Given the description of an element on the screen output the (x, y) to click on. 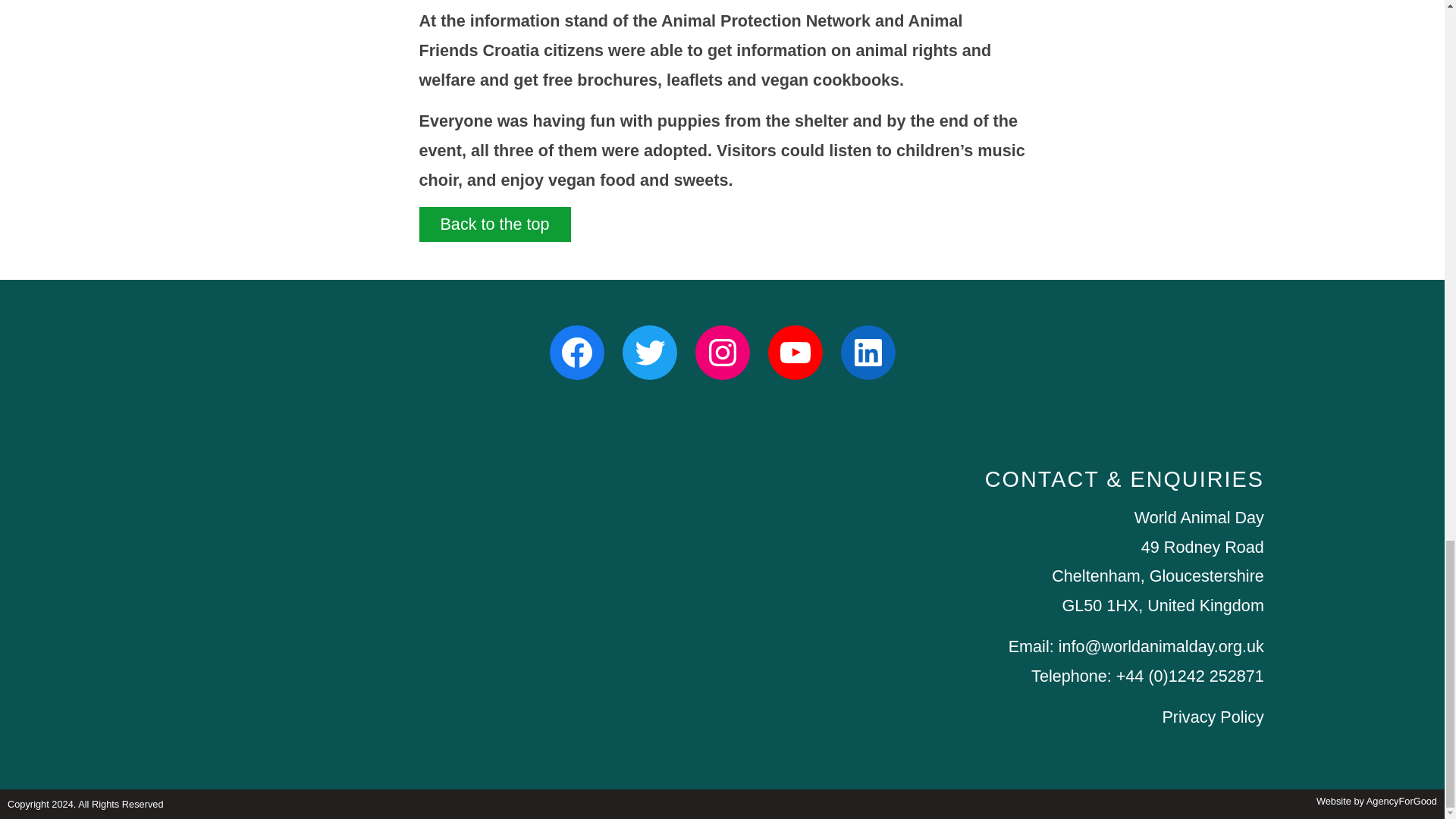
LinkedIn (867, 352)
YouTube (794, 352)
Back to the top (494, 224)
Twitter (649, 352)
Instagram (721, 352)
Charity Web Design (1376, 800)
Facebook (576, 352)
Privacy Policy (1212, 716)
Website by AgencyForGood (1376, 800)
